Given the description of an element on the screen output the (x, y) to click on. 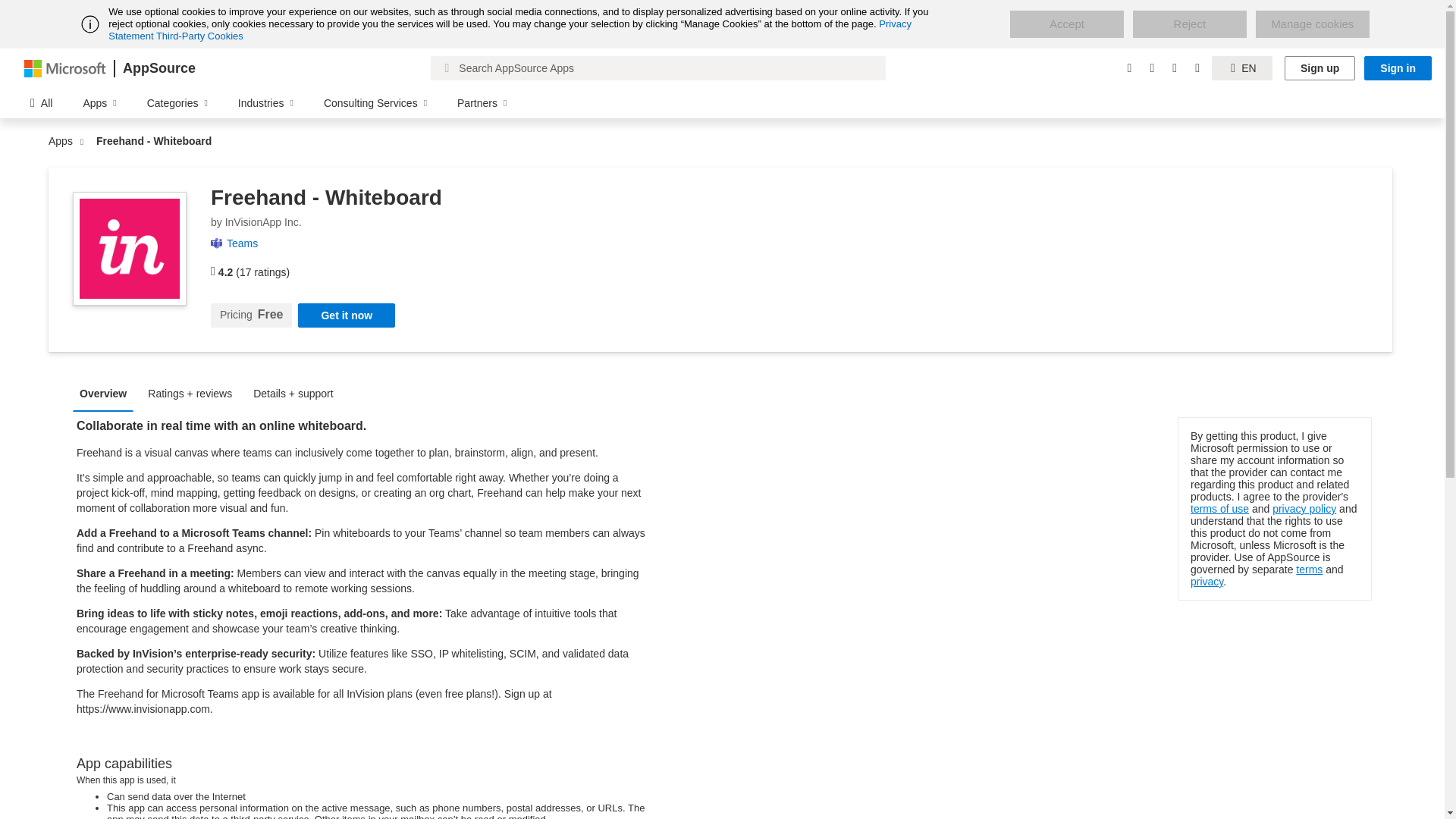
terms of use (1220, 508)
Manage cookies (1312, 23)
Reject (1189, 23)
Get it now (346, 315)
Overview (106, 392)
Accept (1067, 23)
Privacy Statement (509, 29)
Teams (248, 243)
Teams (248, 243)
AppSource (158, 67)
